Given the description of an element on the screen output the (x, y) to click on. 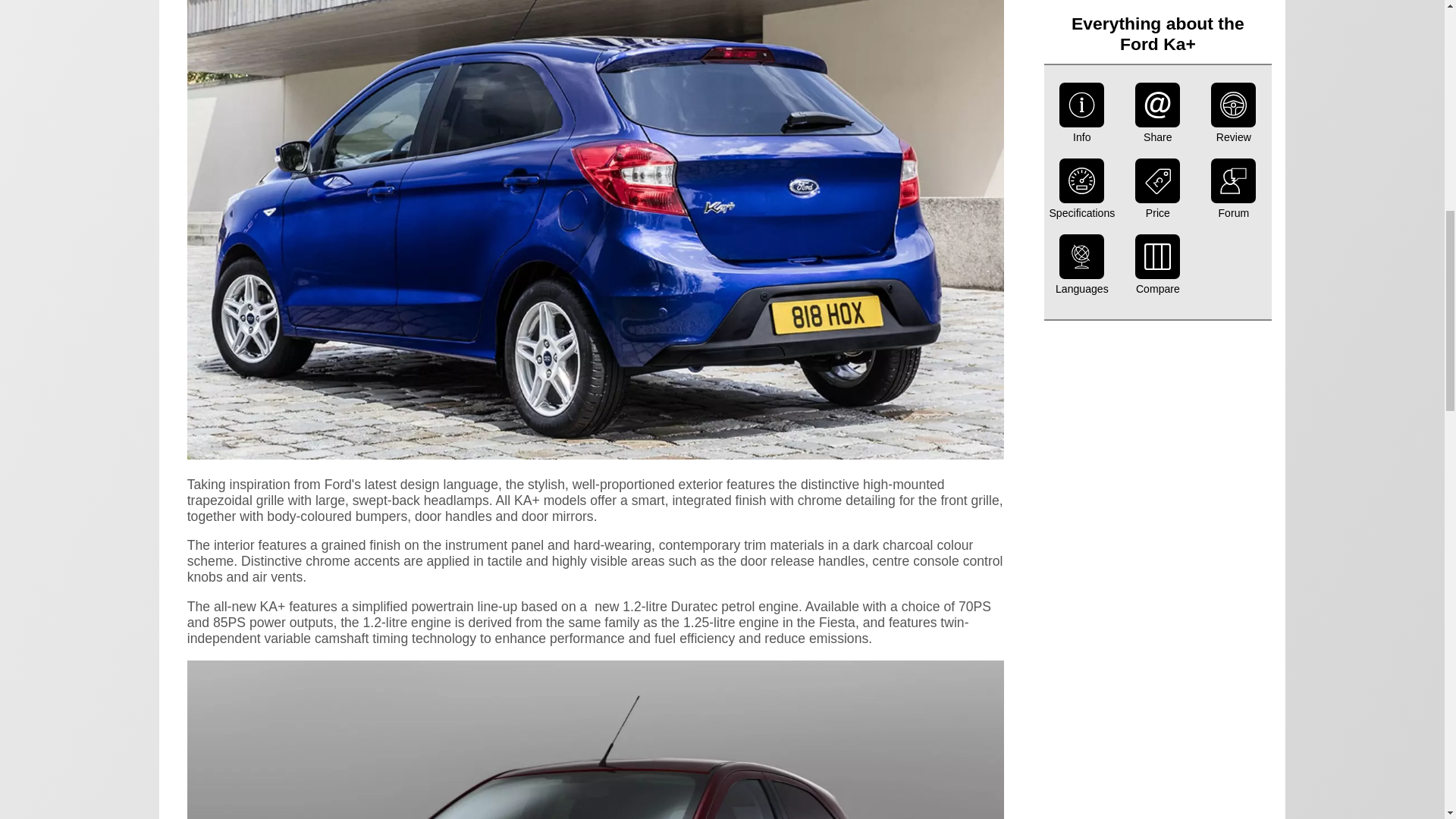
Click for slideshow (595, 454)
Mail a friend (1157, 2)
